Given the description of an element on the screen output the (x, y) to click on. 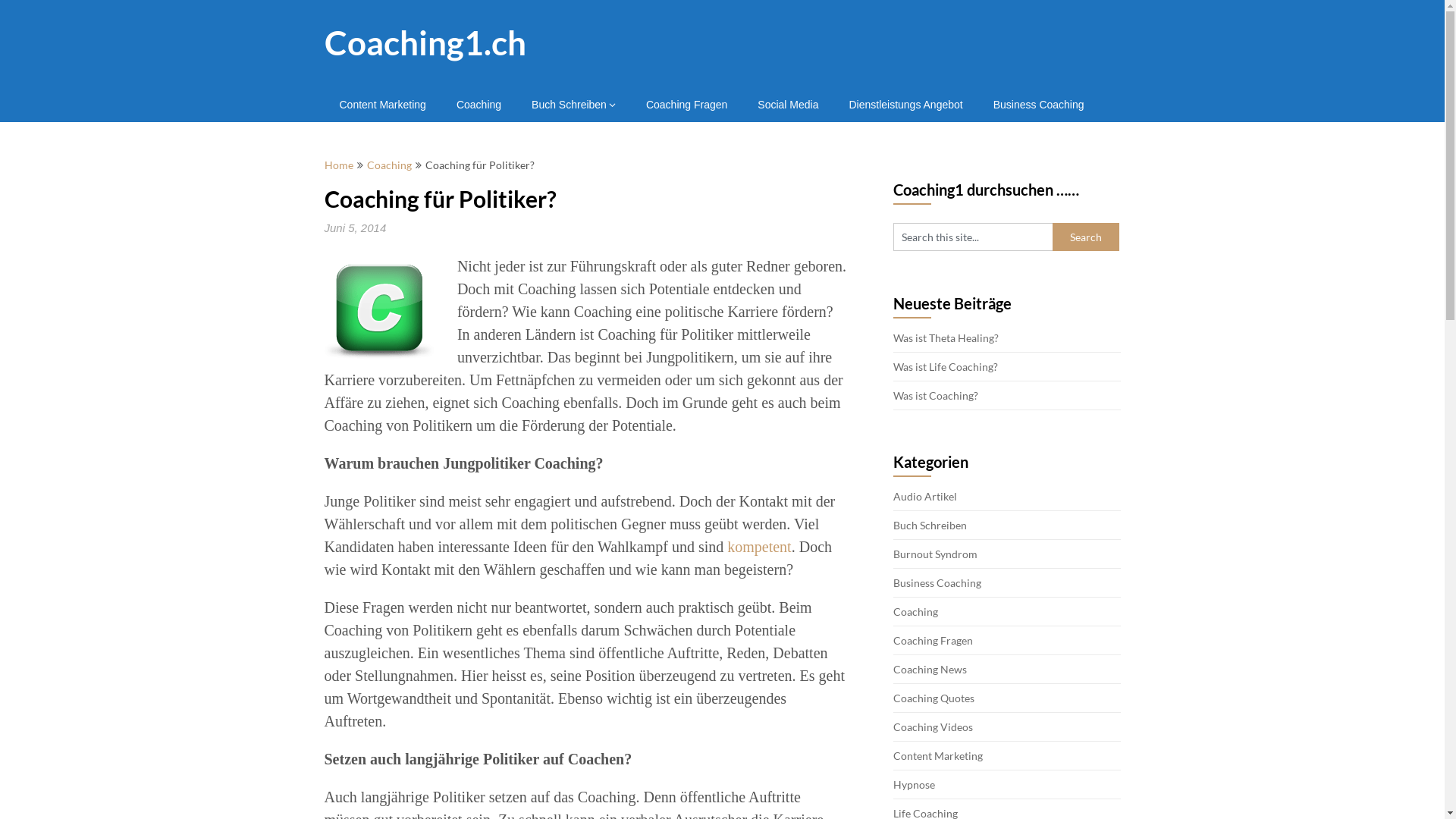
Social Media Element type: text (787, 104)
Coaching Quotes Element type: text (933, 697)
Was ist Theta Healing? Element type: text (945, 337)
Was ist Coaching? Element type: text (935, 395)
Burnout Syndrom Element type: text (935, 553)
Coaching Fragen Element type: text (686, 104)
Content Marketing Element type: text (382, 104)
Coaching Element type: text (389, 164)
Dienstleistungs Angebot Element type: text (905, 104)
Search Element type: text (1086, 236)
Content Marketing Element type: text (937, 755)
Coaching Element type: text (478, 104)
Hypnose Element type: text (914, 784)
Audio Artikel Element type: text (925, 495)
Coaching Fragen Element type: text (932, 639)
Business Coaching Element type: text (937, 582)
Coaching Videos Element type: text (932, 726)
Was ist Life Coaching? Element type: text (945, 366)
Coaching1.ch Element type: text (425, 42)
Business Coaching Element type: text (1038, 104)
kompetent Element type: text (758, 546)
Home Element type: text (338, 164)
Buch Schreiben Element type: text (573, 104)
Coaching Element type: text (915, 611)
Buch Schreiben Element type: text (929, 524)
Coaching News Element type: text (929, 668)
